Given the description of an element on the screen output the (x, y) to click on. 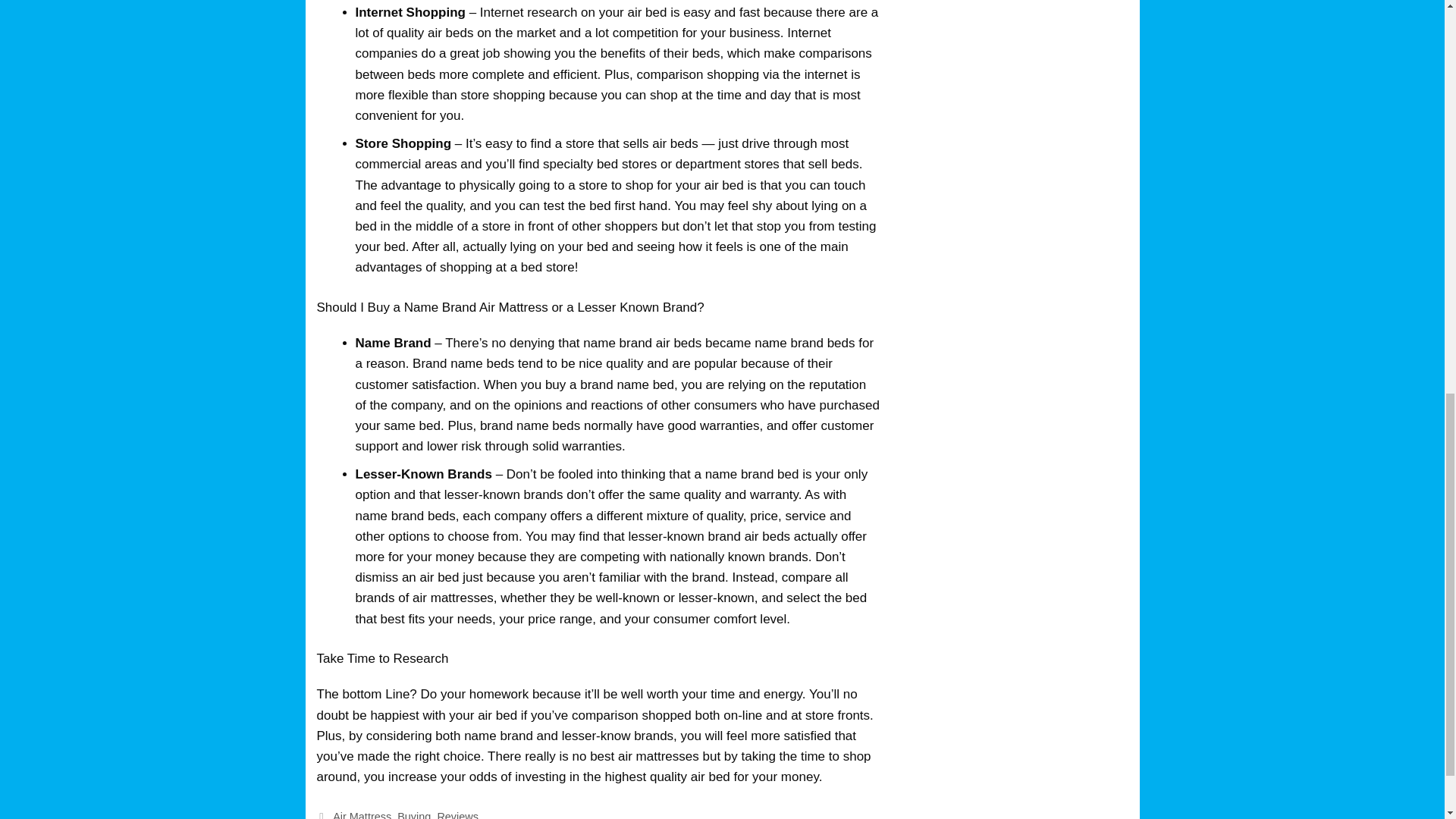
Air Mattress (362, 814)
Reviews (457, 814)
Buying (413, 814)
